Given the description of an element on the screen output the (x, y) to click on. 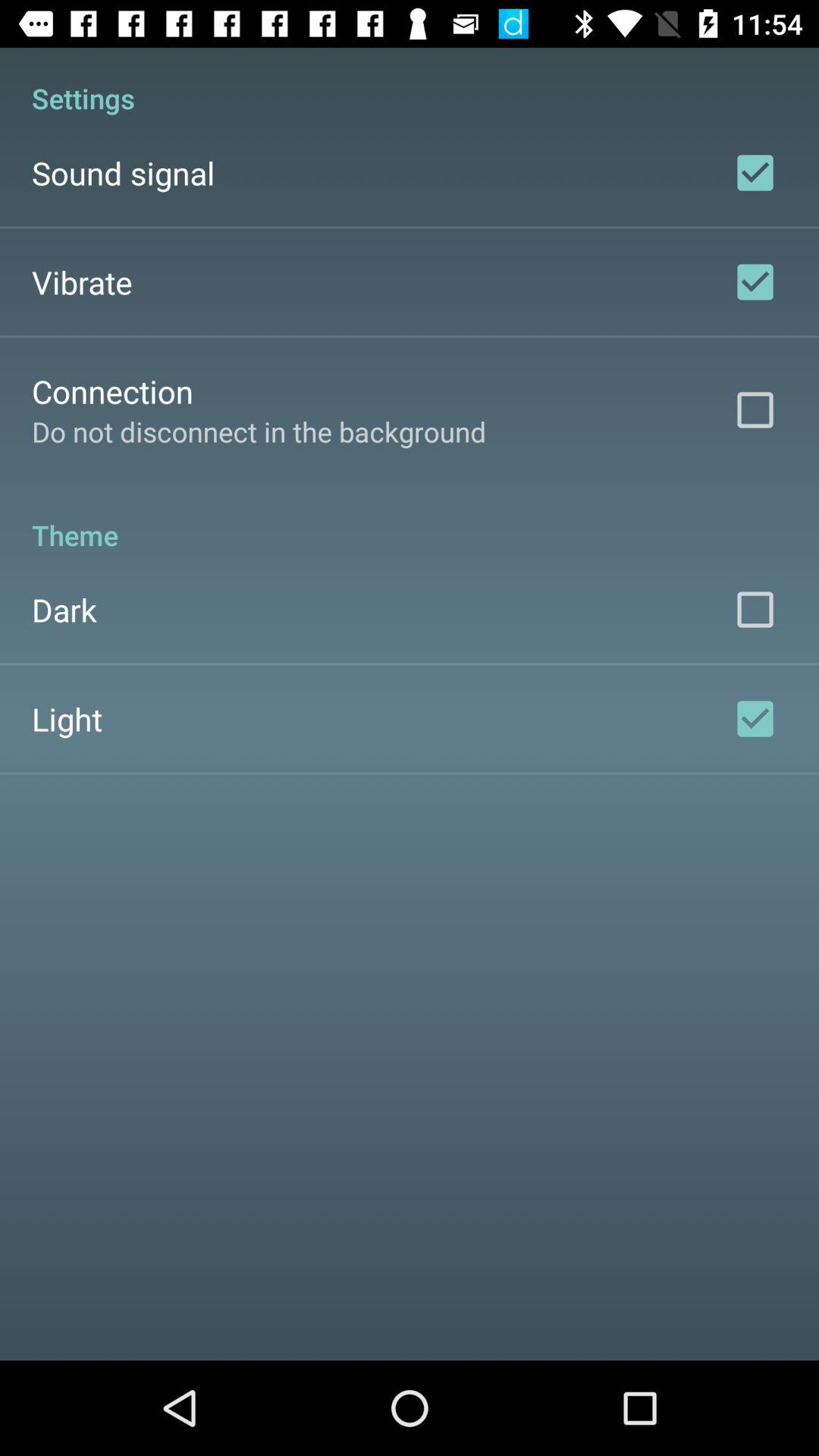
turn off item above the light icon (63, 609)
